Given the description of an element on the screen output the (x, y) to click on. 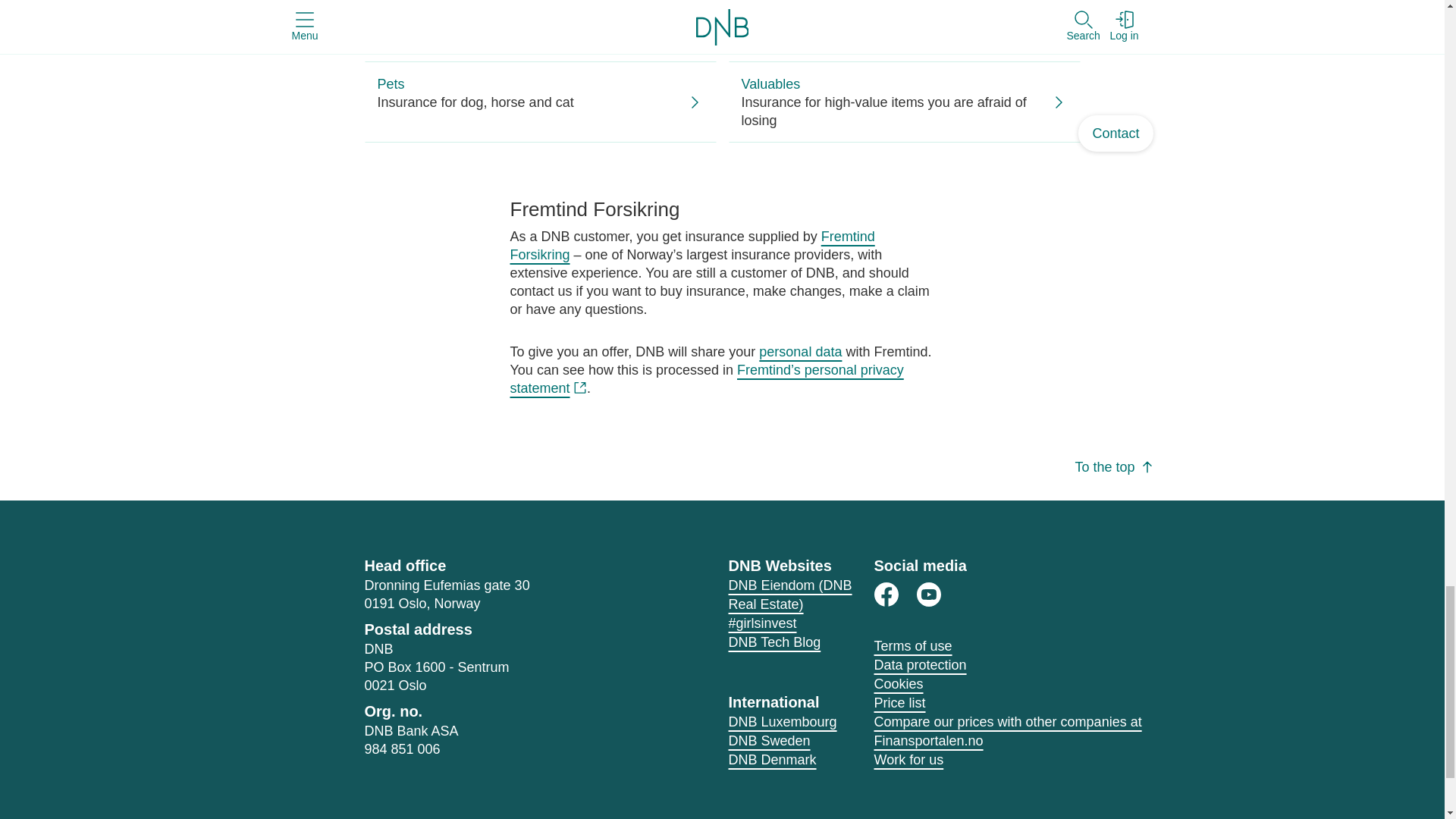
Opens a new window (774, 641)
Opens a new window (762, 623)
Opens a new window (705, 378)
Opens a new window (789, 594)
Opens a new window (927, 594)
Opens a new window (885, 594)
